Given the description of an element on the screen output the (x, y) to click on. 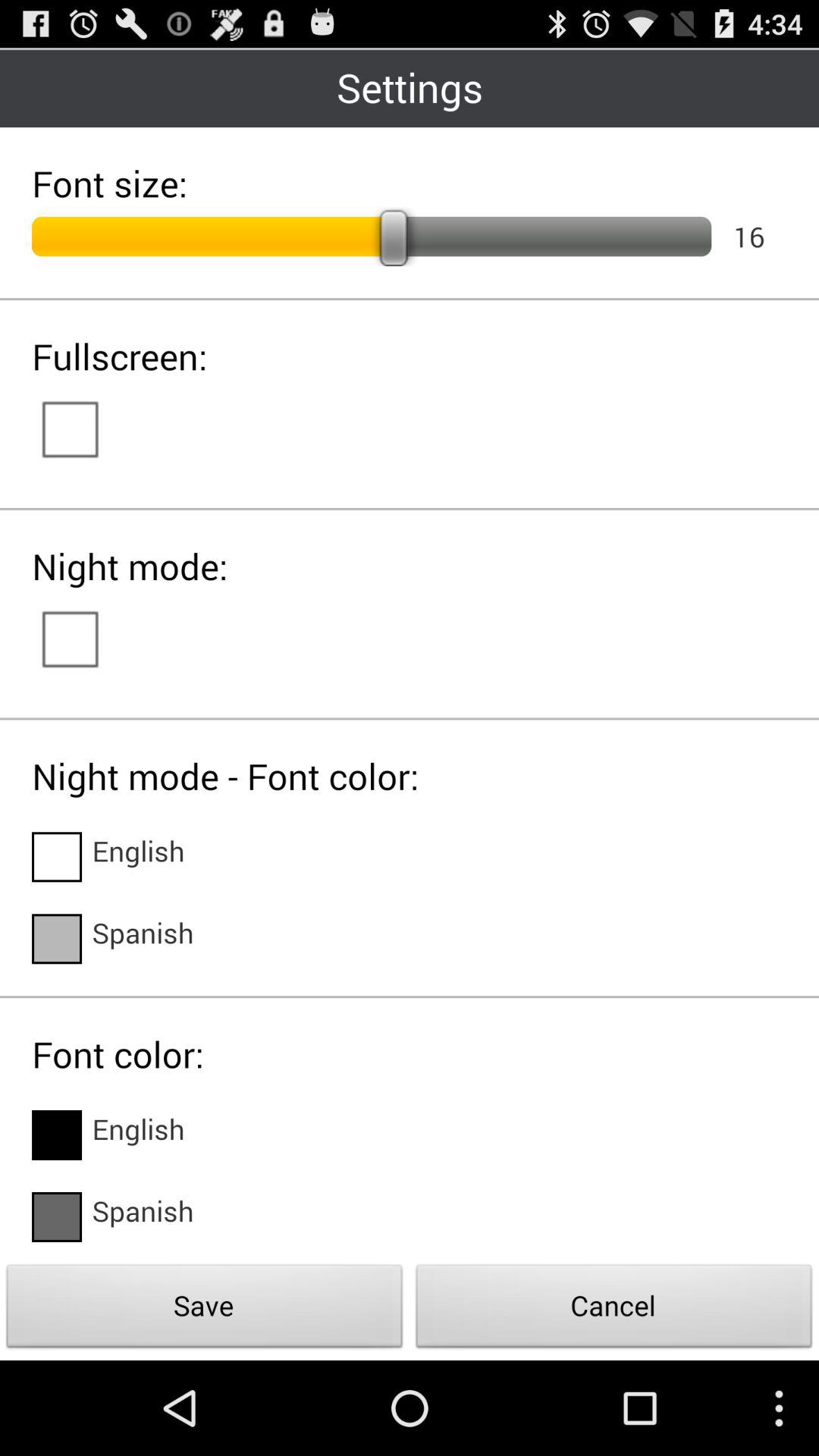
tap icon to the left of the cancel button (204, 1310)
